Given the description of an element on the screen output the (x, y) to click on. 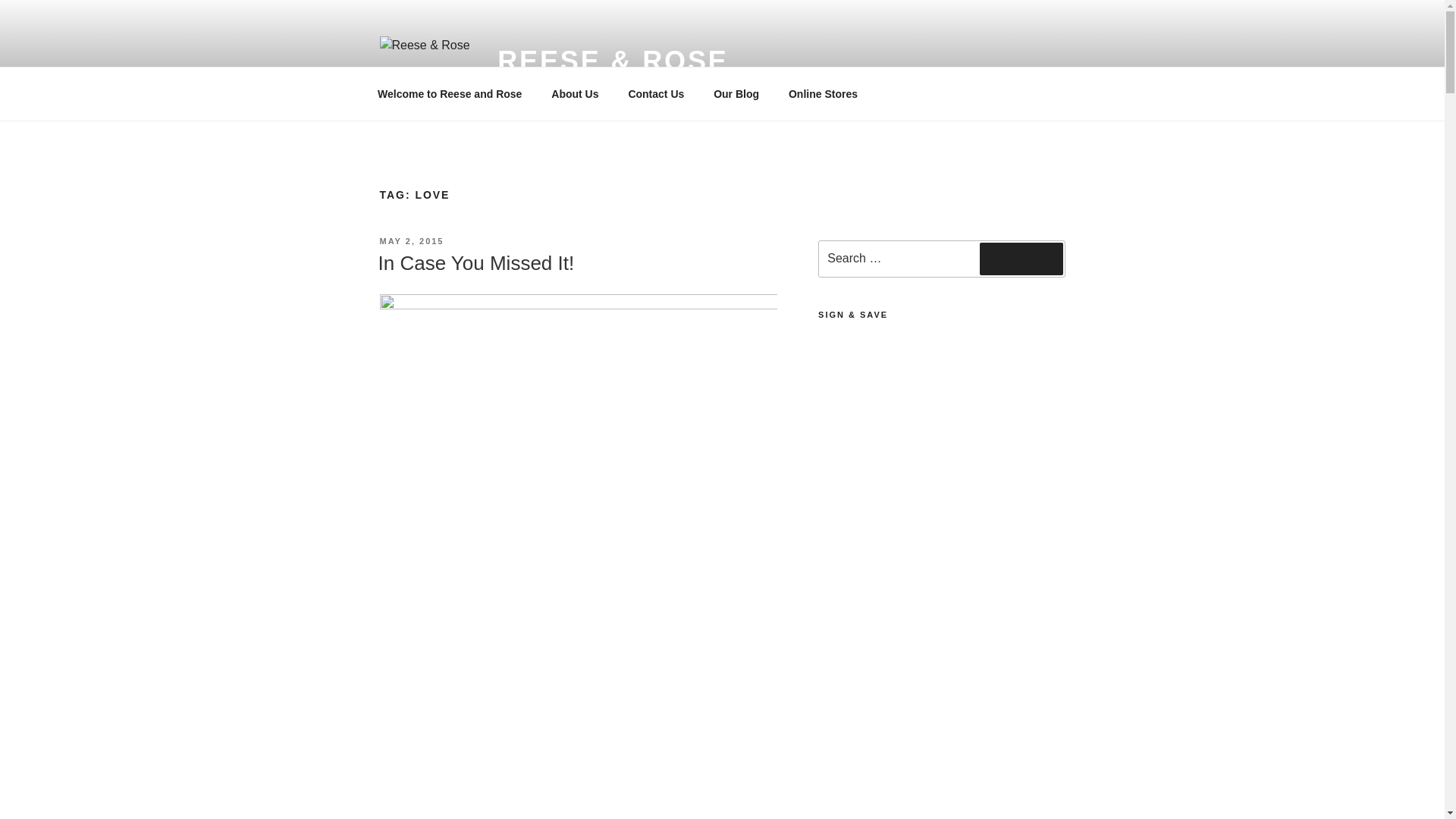
Contact Us (655, 94)
Welcome to Reese and Rose (449, 94)
About Us (574, 94)
In Case You Missed It! (475, 262)
Search (1020, 258)
Our Blog (736, 94)
Online Stores (822, 94)
MAY 2, 2015 (411, 240)
